Given the description of an element on the screen output the (x, y) to click on. 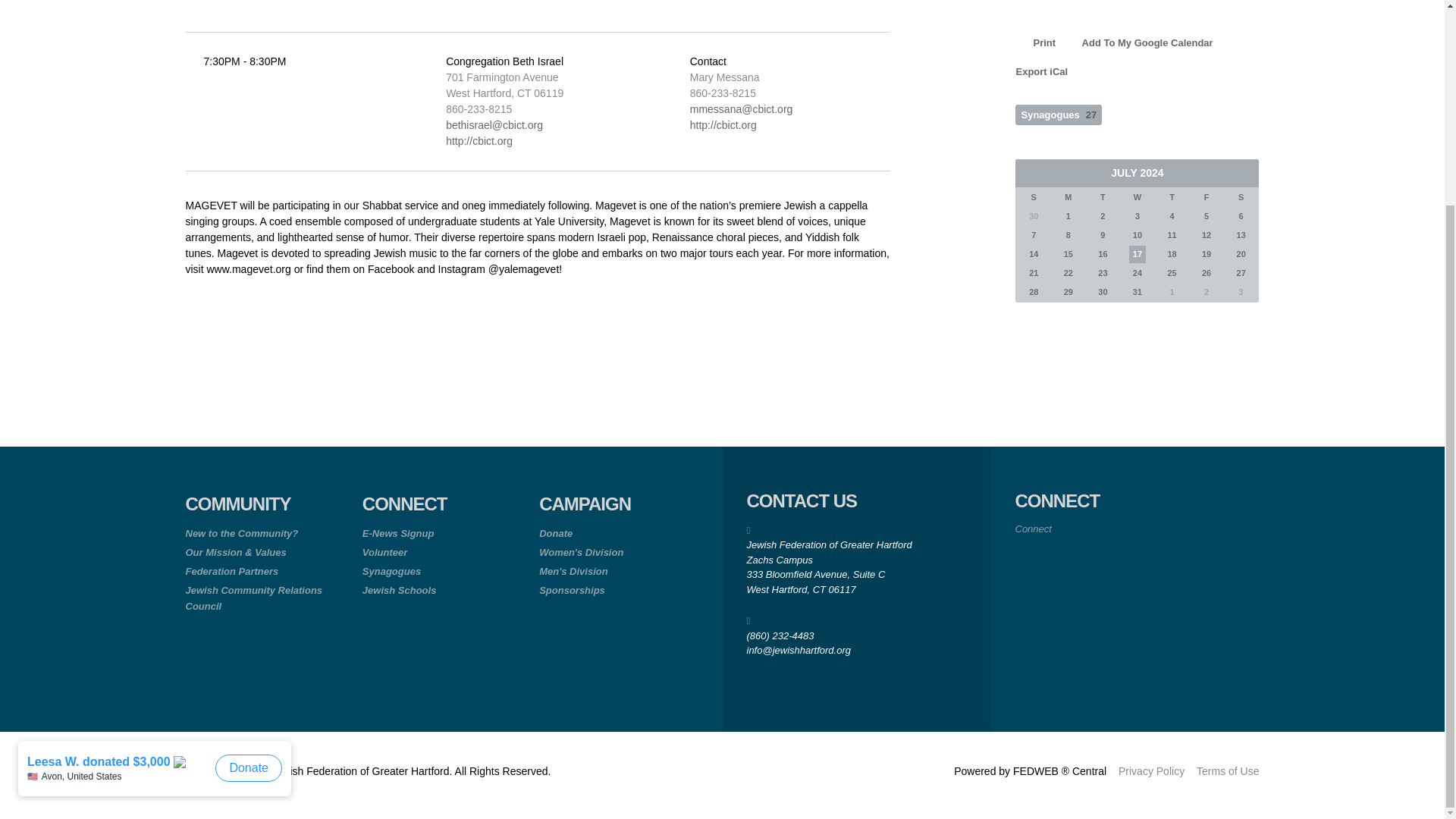
Donation Activity Popup (158, 511)
